Given the description of an element on the screen output the (x, y) to click on. 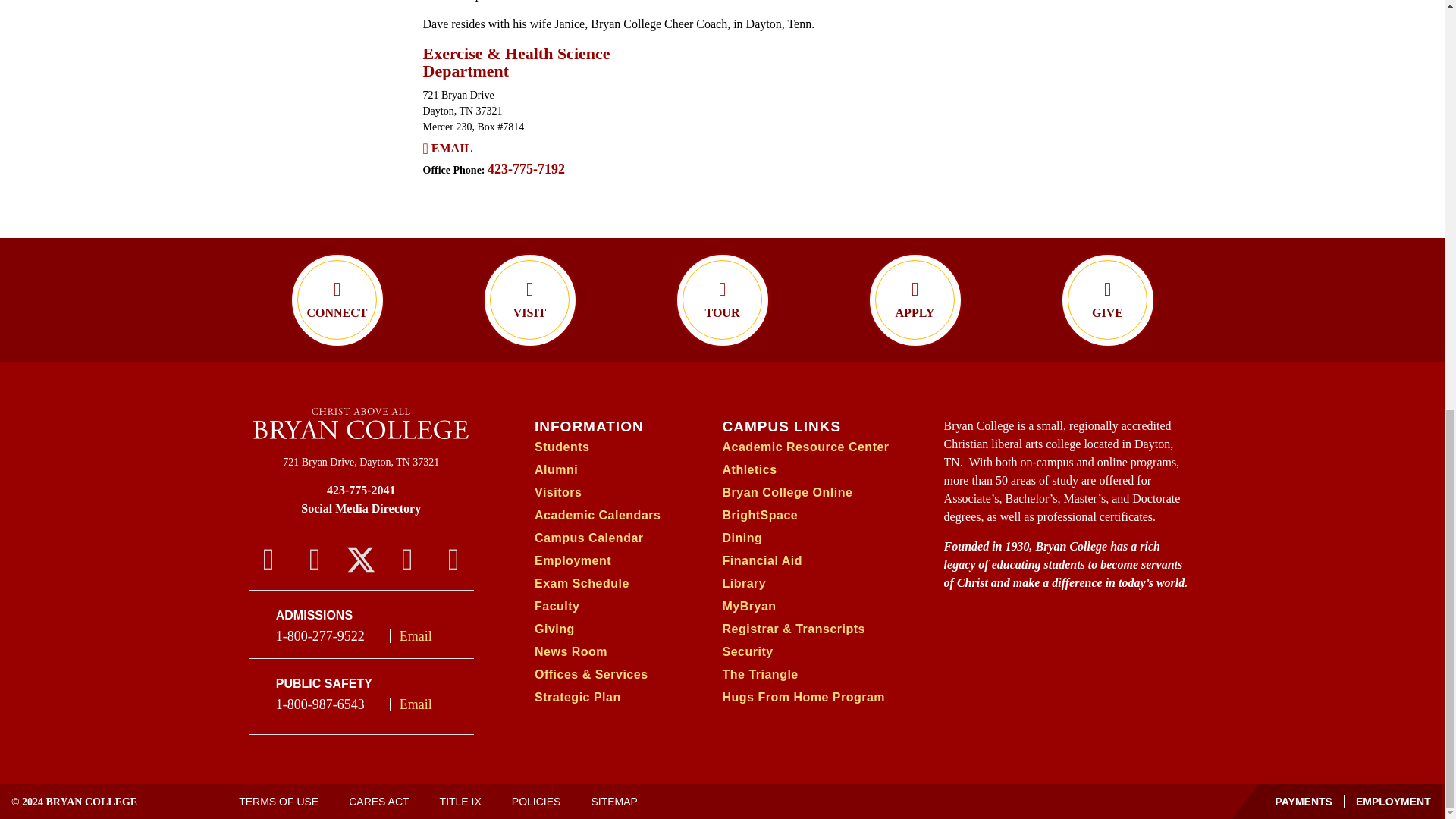
Employment (1387, 801)
Payments (1303, 801)
423-775-7192 (525, 168)
Email (450, 148)
423-775-2041 (361, 490)
